Given the description of an element on the screen output the (x, y) to click on. 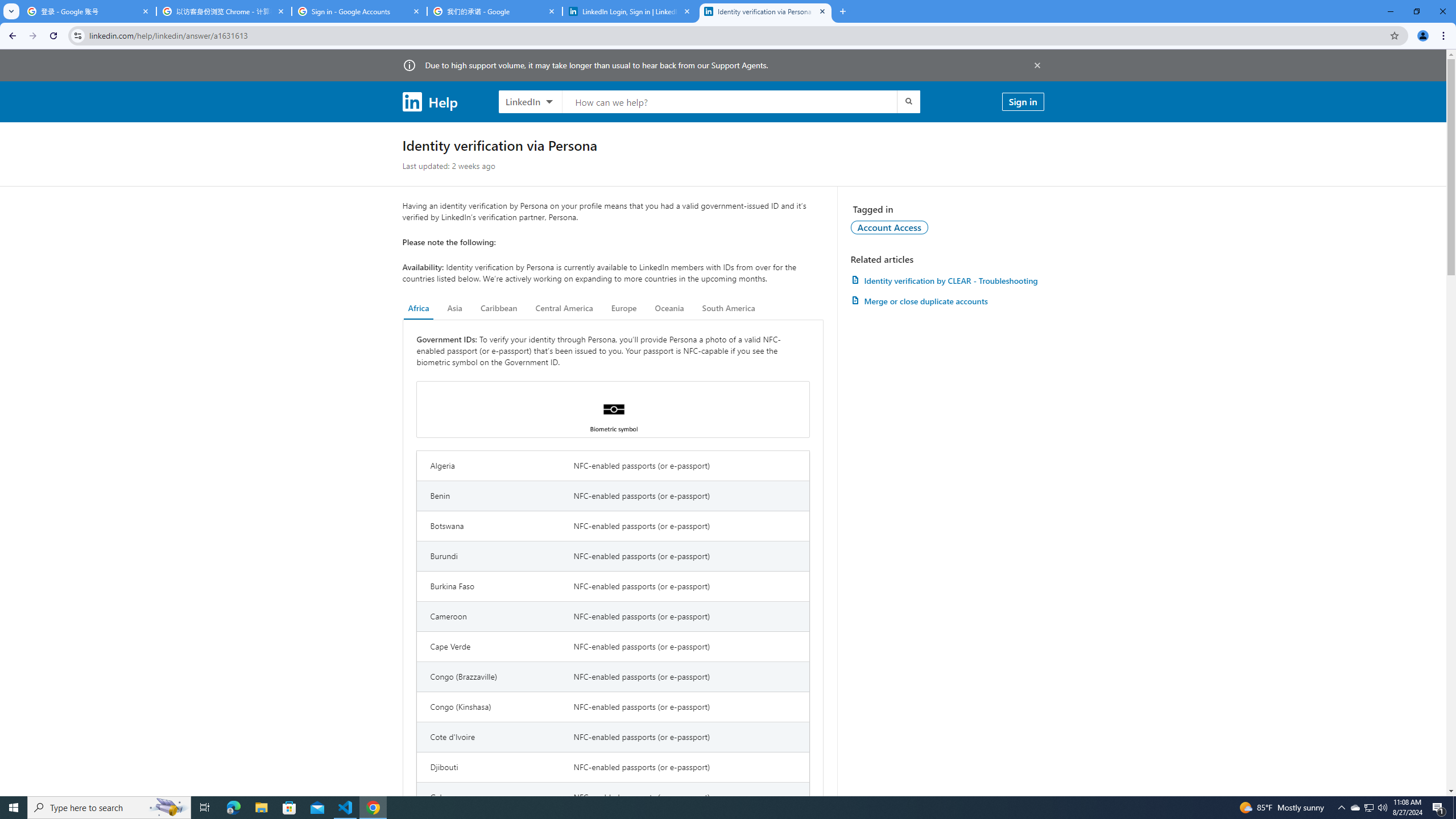
Account Access (889, 227)
LinkedIn products to search, LinkedIn selected (530, 101)
Africa (418, 308)
Sign in - Google Accounts (359, 11)
AutomationID: article-link-a1457505 (946, 280)
Caribbean (499, 308)
